Given the description of an element on the screen output the (x, y) to click on. 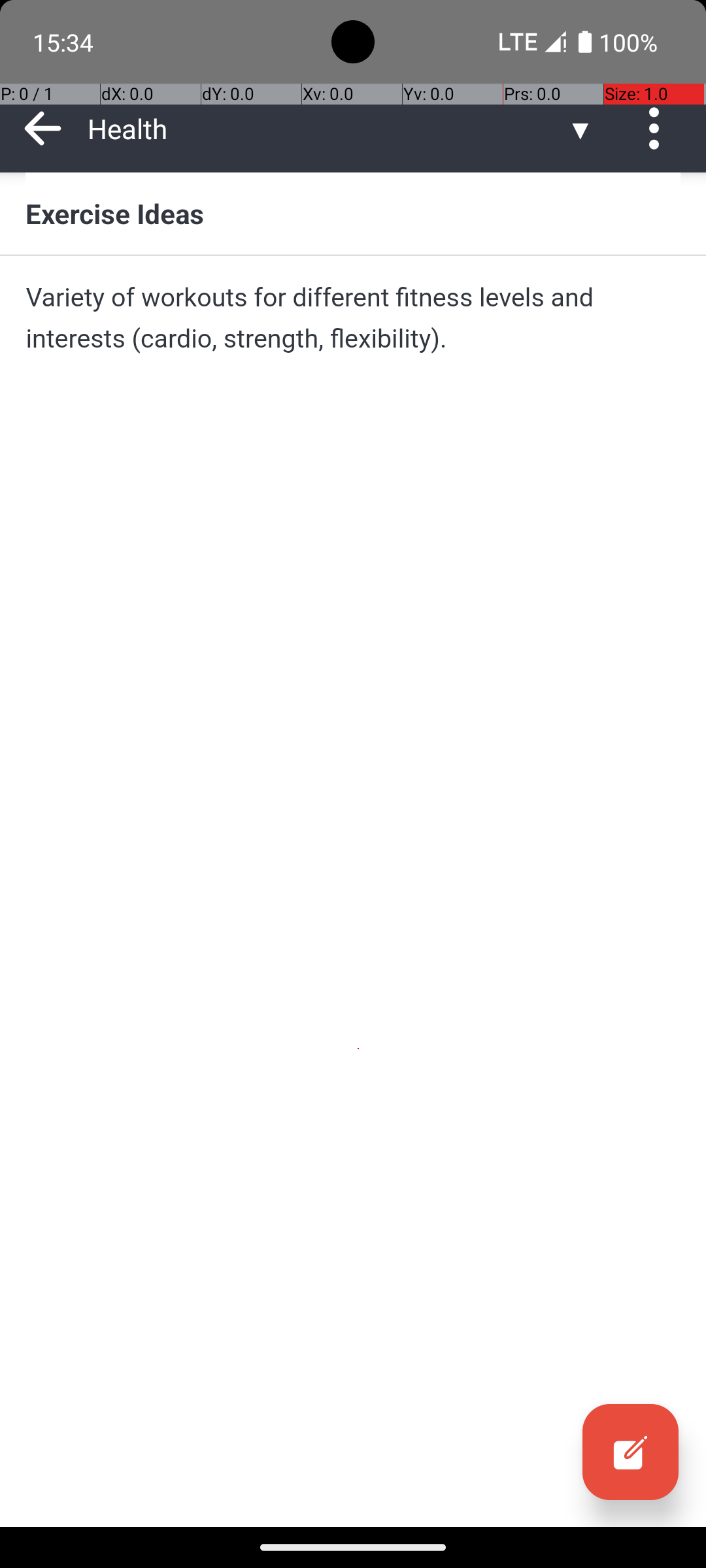
Exercise Ideas Element type: android.widget.EditText (352, 213)
Variety of workouts for different fitness levels and interests (cardio, strength, flexibility). Element type: android.widget.TextView (352, 317)
